Given the description of an element on the screen output the (x, y) to click on. 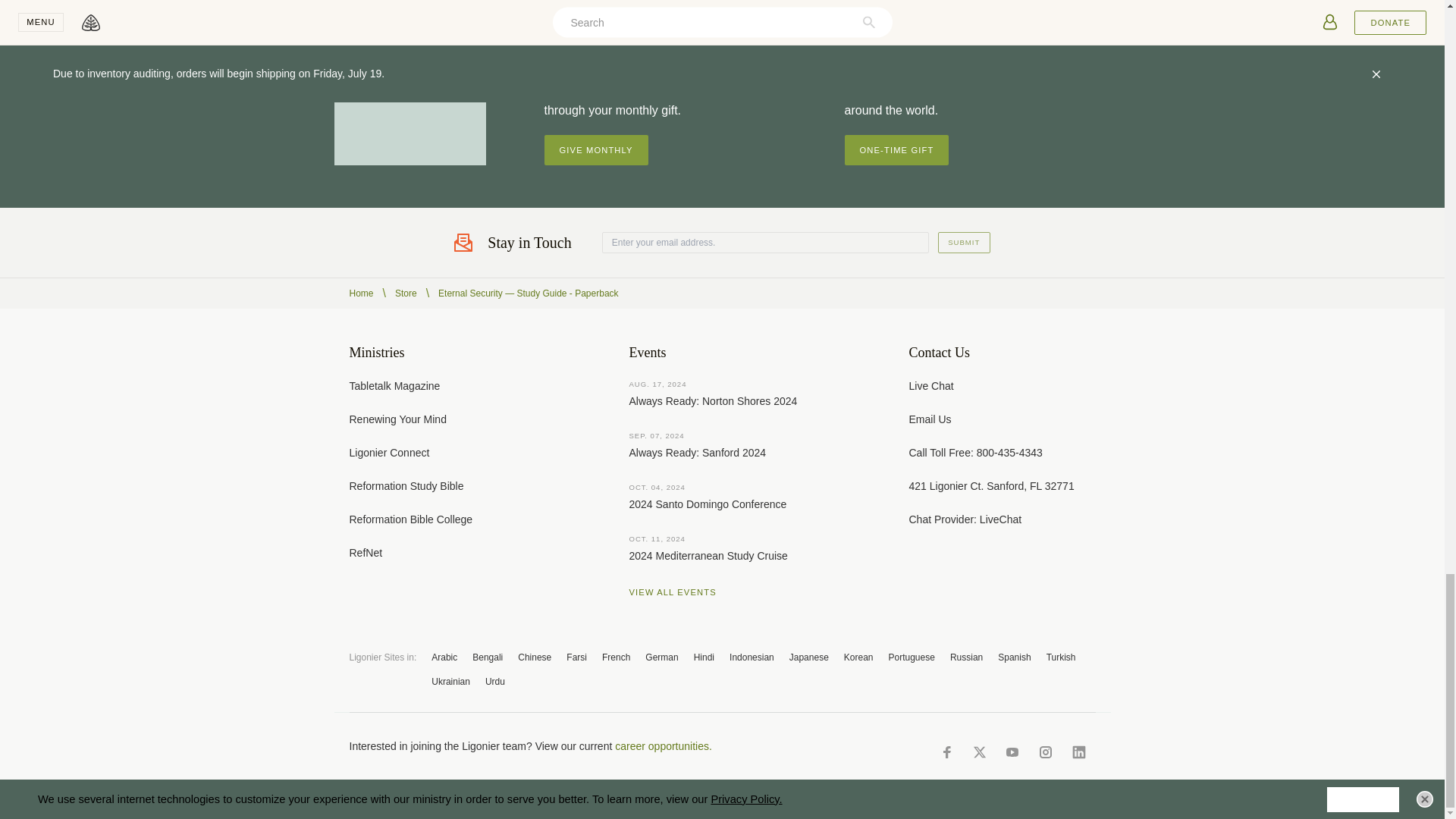
One-Time Gift (896, 150)
Give Monthly (595, 150)
